Given the description of an element on the screen output the (x, y) to click on. 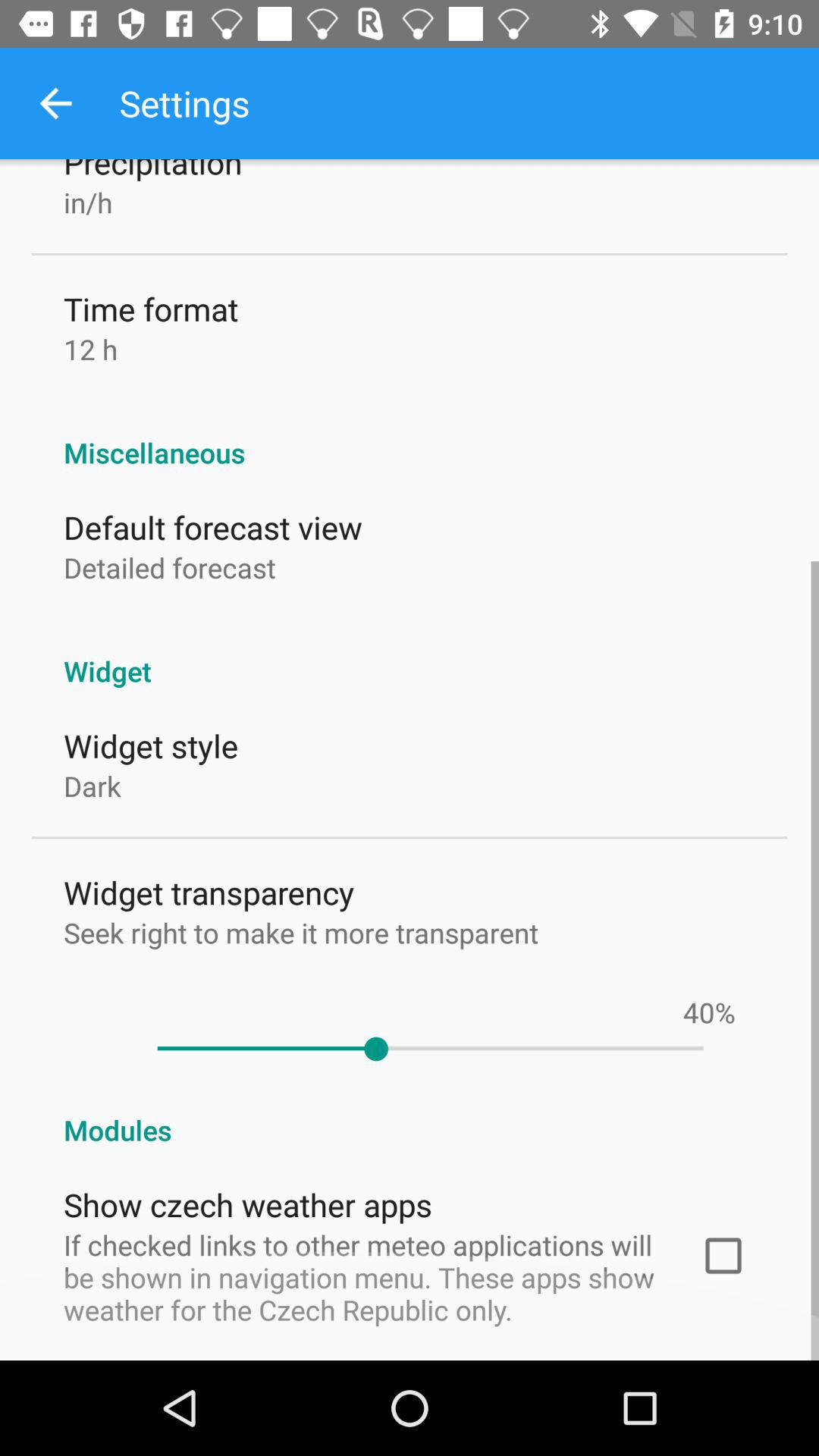
turn on item below the % (430, 1048)
